Given the description of an element on the screen output the (x, y) to click on. 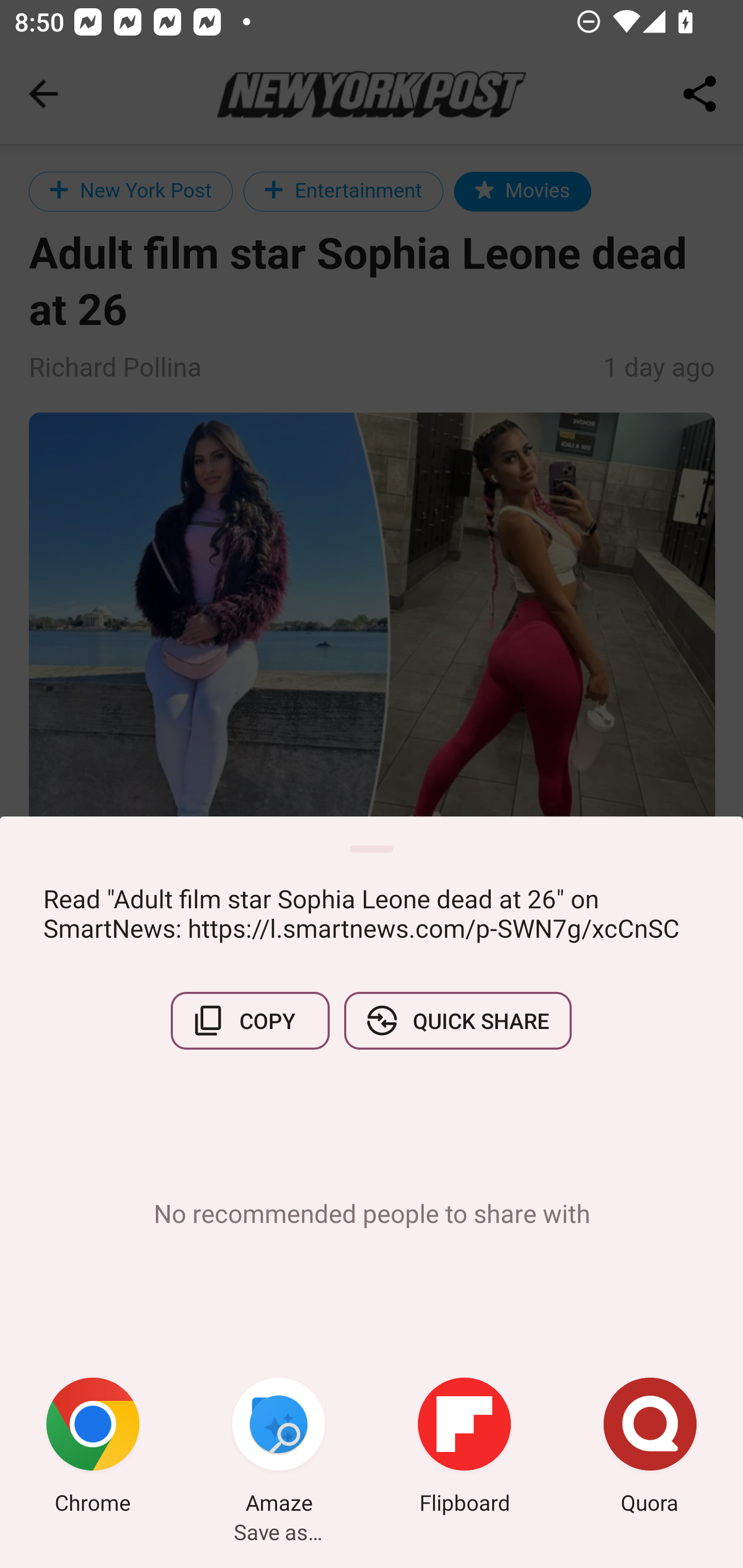
COPY (249, 1020)
QUICK SHARE (457, 1020)
Chrome (92, 1448)
Amaze Save as… (278, 1448)
Flipboard (464, 1448)
Quora (650, 1448)
